Given the description of an element on the screen output the (x, y) to click on. 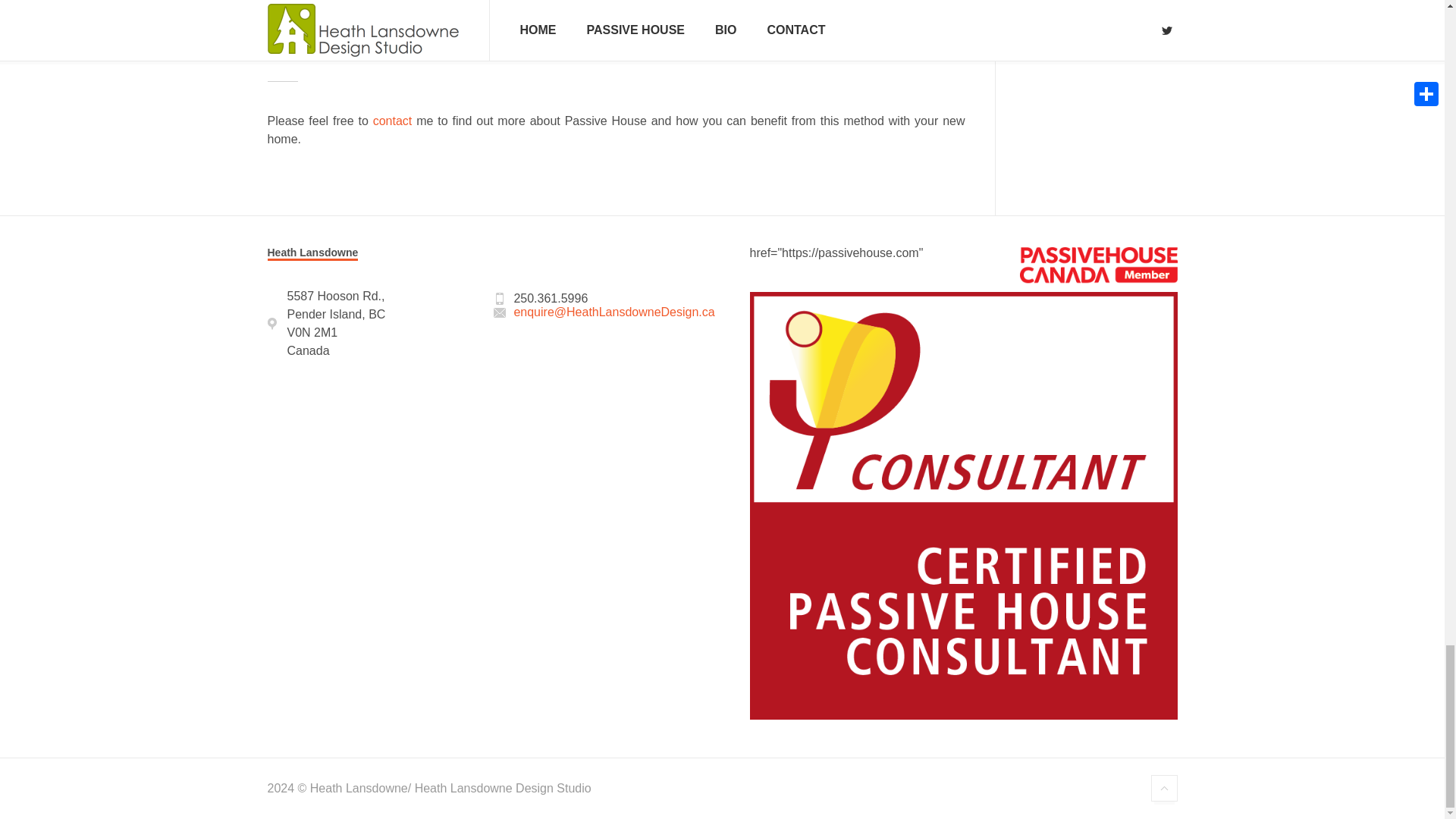
here (690, 22)
contact (392, 120)
here (309, 22)
